Given the description of an element on the screen output the (x, y) to click on. 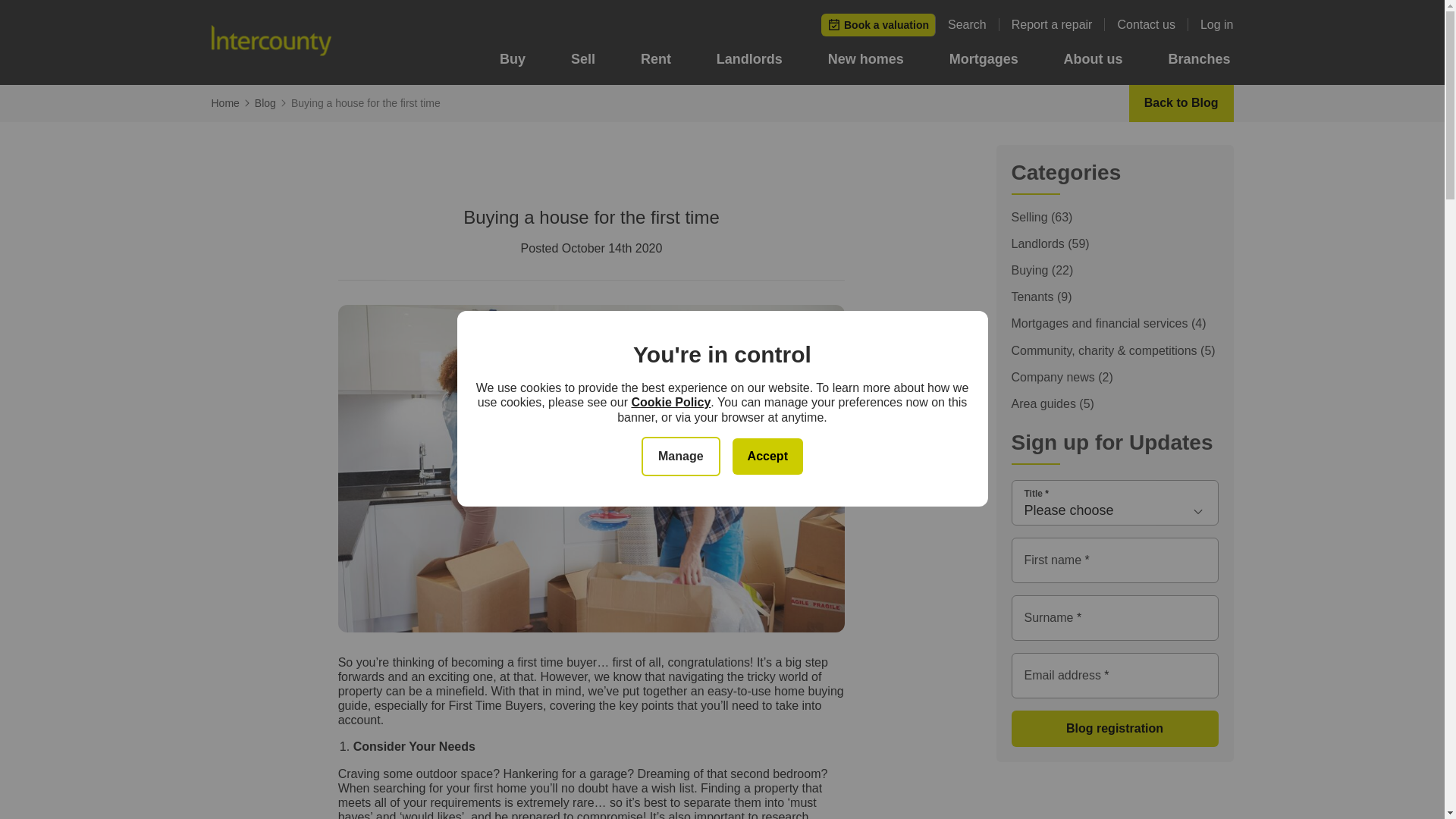
Report a repair (1058, 24)
Intercounty (270, 42)
Contact us (1152, 24)
Book a valuation (878, 24)
Log in (1216, 24)
Log in (1216, 24)
Search (972, 24)
Book a valuation (878, 24)
Contact us (1152, 24)
Report a repair (1058, 24)
Search (972, 24)
